Given the description of an element on the screen output the (x, y) to click on. 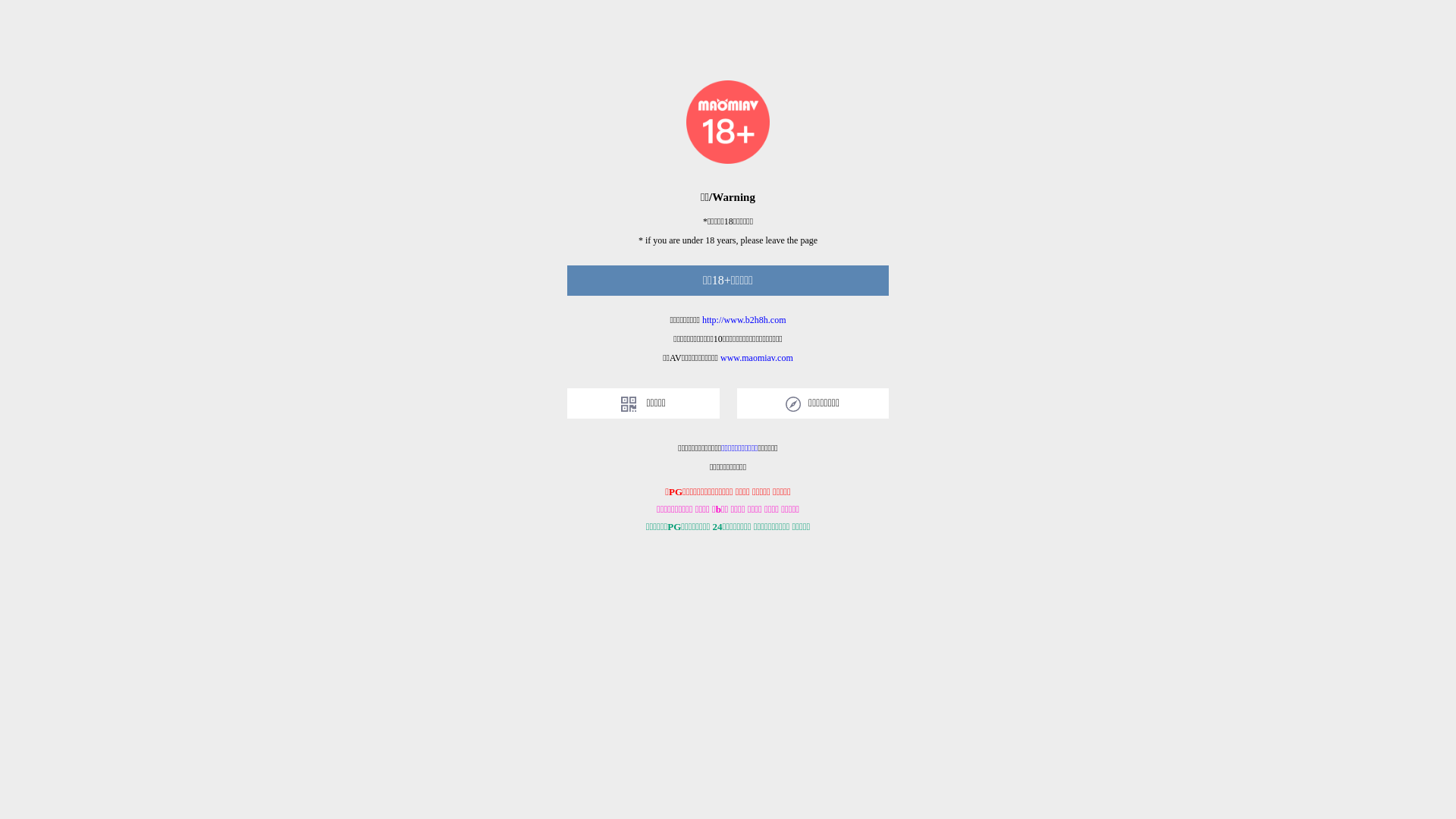
http://www.b2h8h.com Element type: text (744, 319)
www.maomiav.com Element type: text (756, 357)
